Given the description of an element on the screen output the (x, y) to click on. 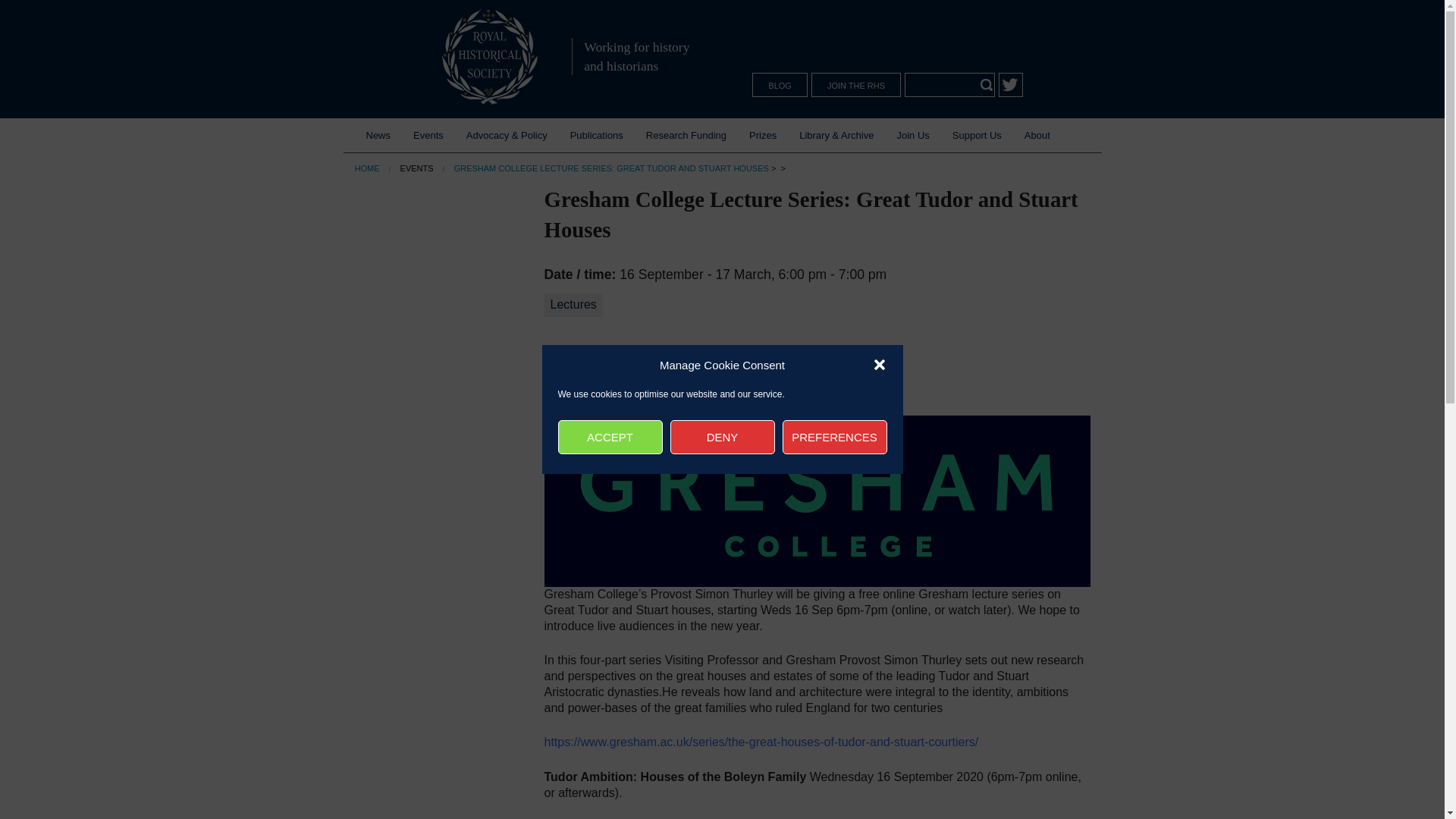
DENY (721, 437)
Research Funding (686, 134)
Events (427, 134)
About (1037, 134)
Publications (596, 134)
Support Us (976, 134)
BLOG (780, 84)
JOIN THE RHS (855, 84)
Go to Events. (416, 167)
Go to RHS. (367, 168)
Prizes (762, 134)
News (379, 134)
Join Us (912, 134)
PREFERENCES (834, 437)
ACCEPT (609, 437)
